Given the description of an element on the screen output the (x, y) to click on. 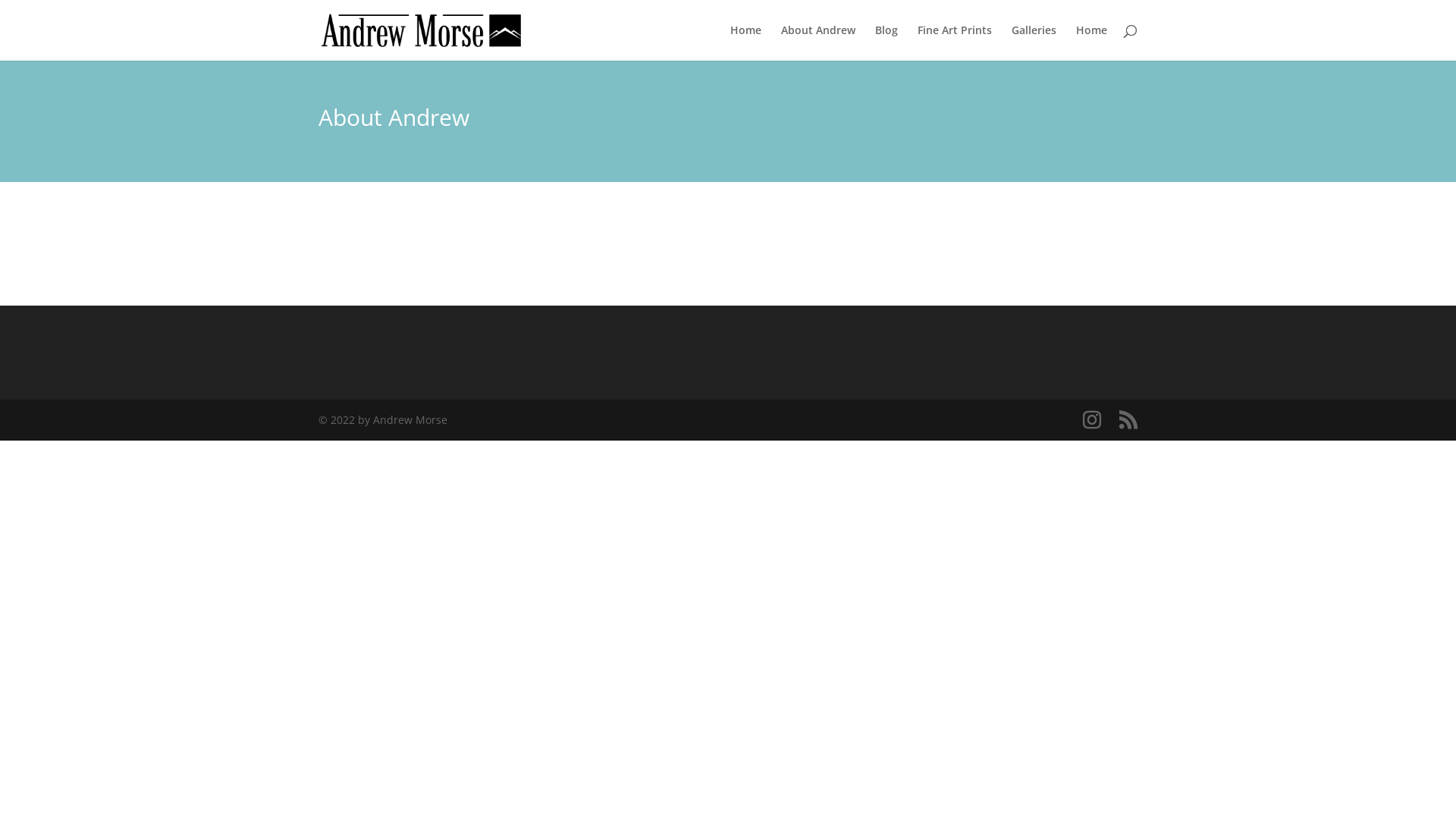
Blog Element type: text (886, 42)
Galleries Element type: text (1033, 42)
About Andrew Element type: text (818, 42)
Home Element type: text (745, 42)
Fine Art Prints Element type: text (954, 42)
Home Element type: text (1091, 42)
